Given the description of an element on the screen output the (x, y) to click on. 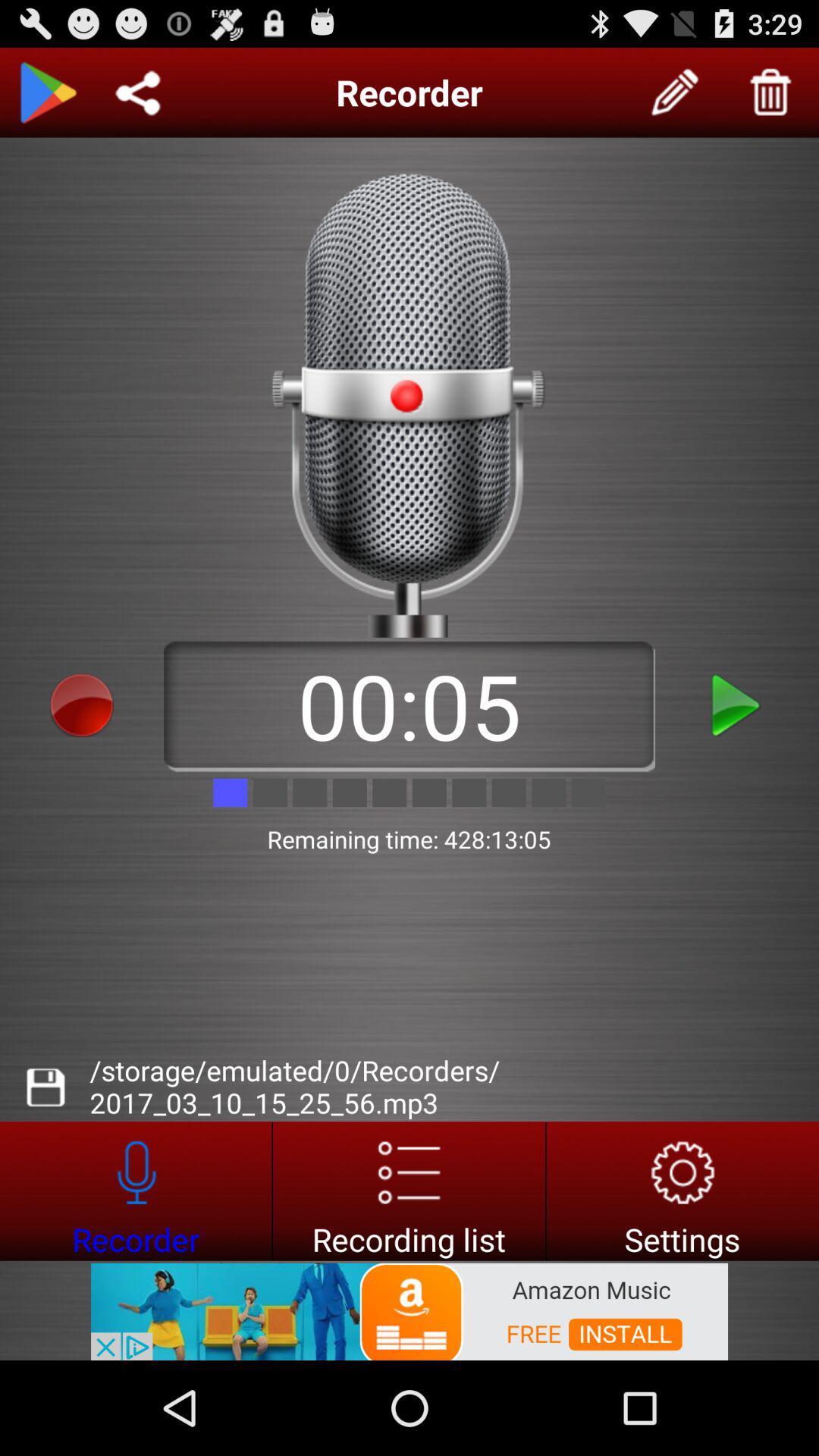
next button (737, 705)
